Given the description of an element on the screen output the (x, y) to click on. 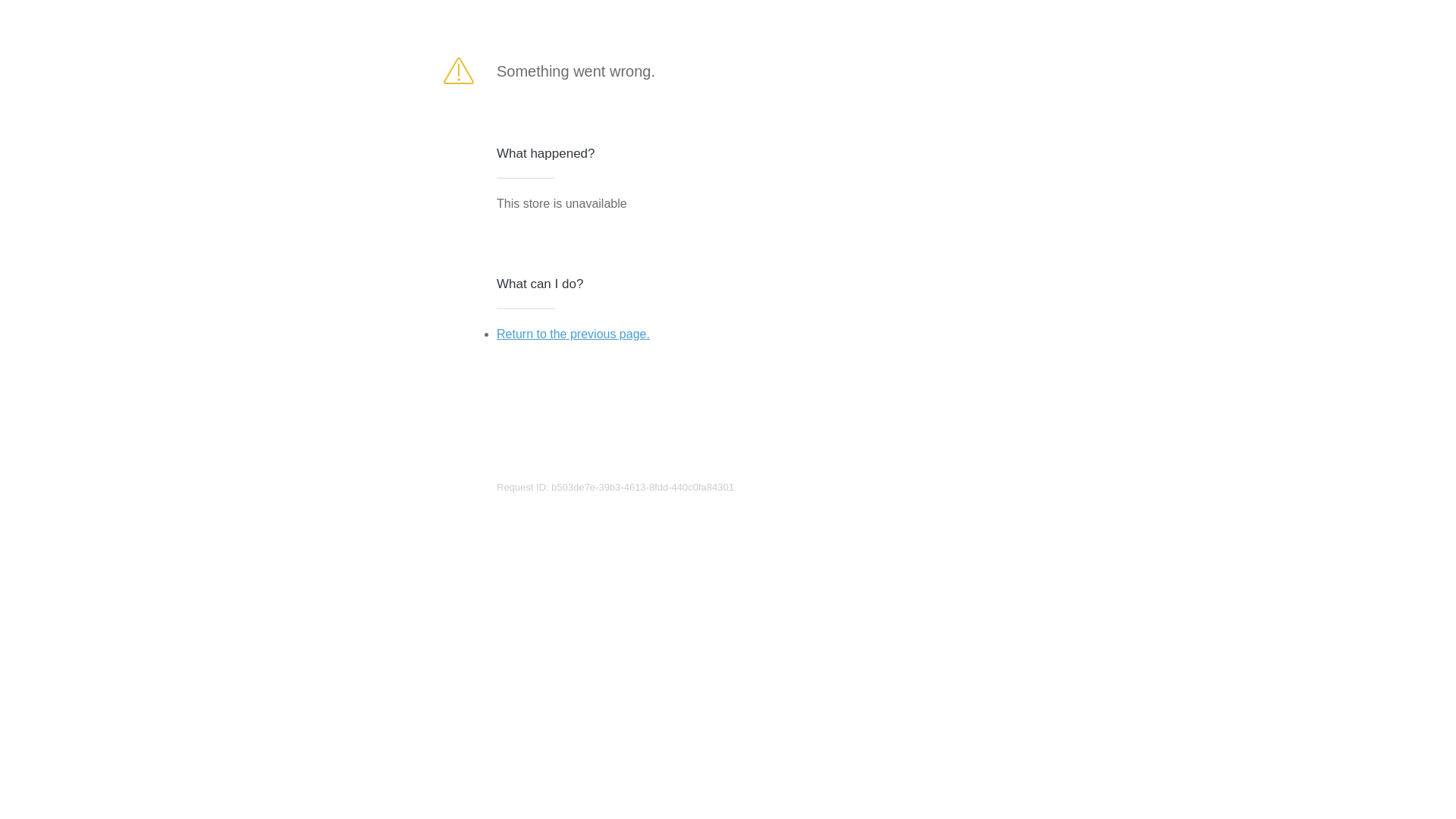
Return to the previous page. Element type: text (572, 333)
